Given the description of an element on the screen output the (x, y) to click on. 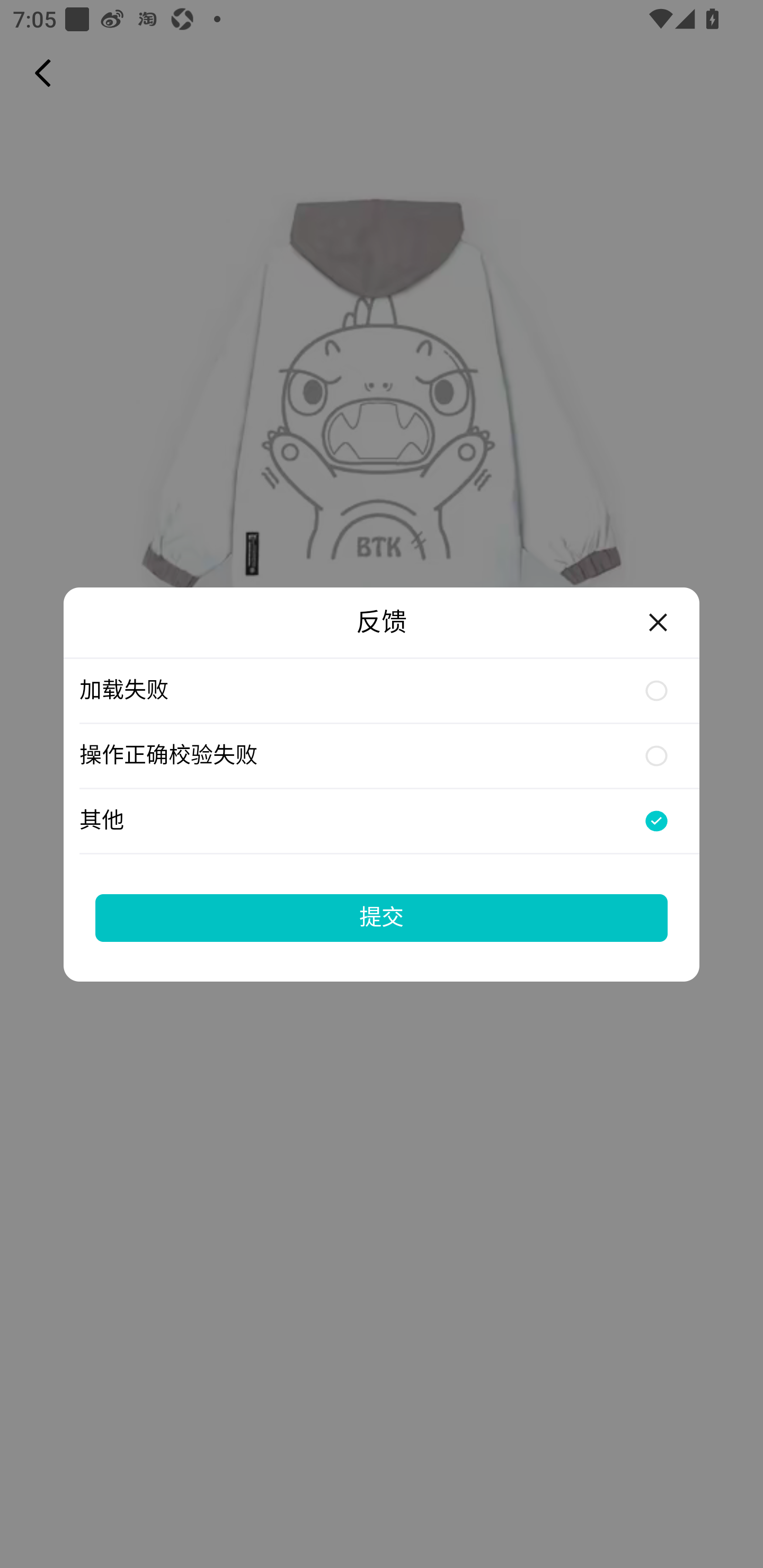
提交 (381, 917)
